Given the description of an element on the screen output the (x, y) to click on. 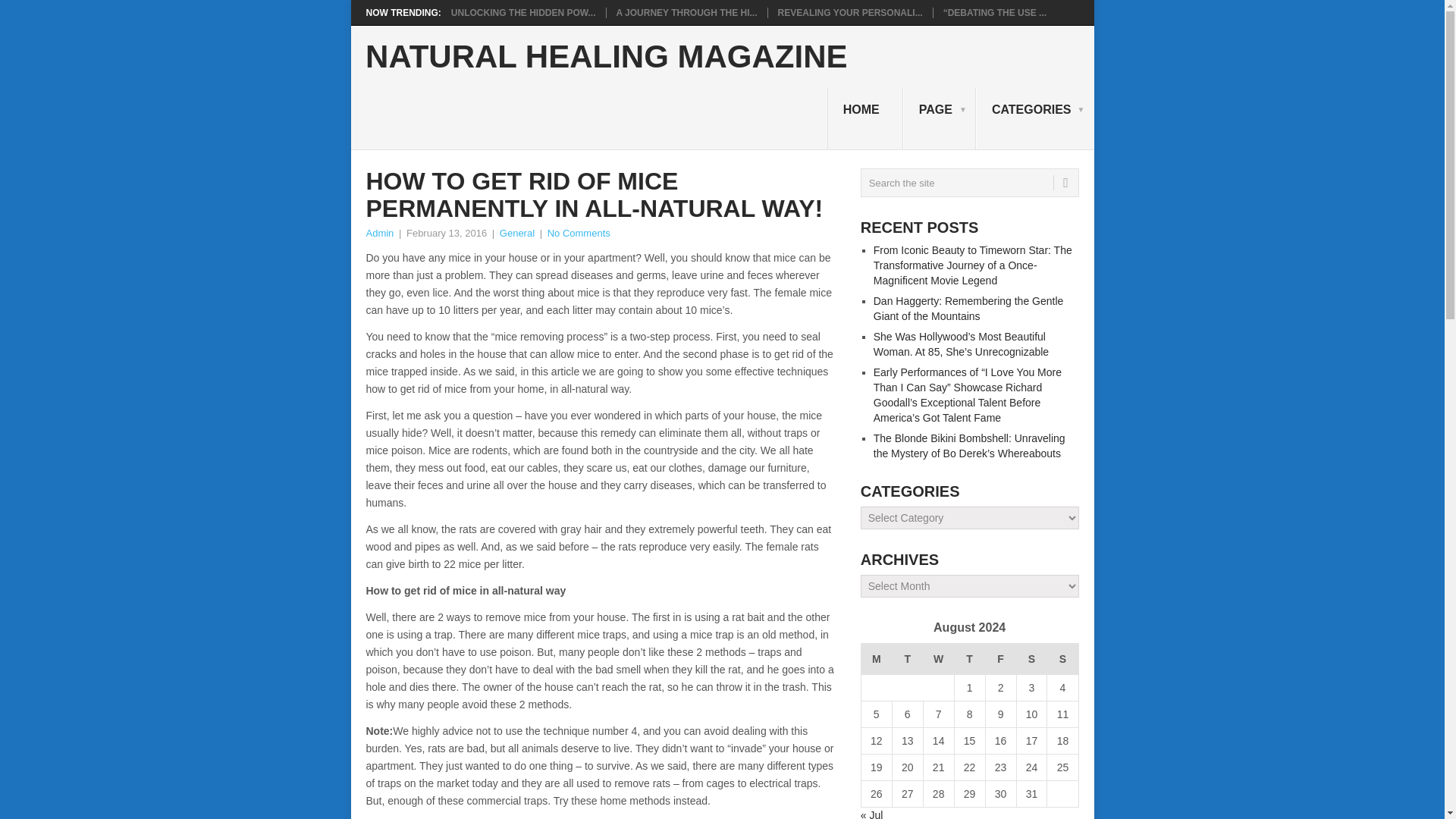
General (516, 233)
Monday (875, 658)
A JOURNEY THROUGH THE HI... (686, 12)
A Journey Through the History of Kitchen Gadgets (686, 12)
PAGE (938, 118)
REVEALING YOUR PERSONALI... (850, 12)
Posts by Admin (379, 233)
Search the site (969, 182)
Tuesday (907, 658)
No Comments (578, 233)
Wednesday (938, 658)
Thursday (969, 658)
